Given the description of an element on the screen output the (x, y) to click on. 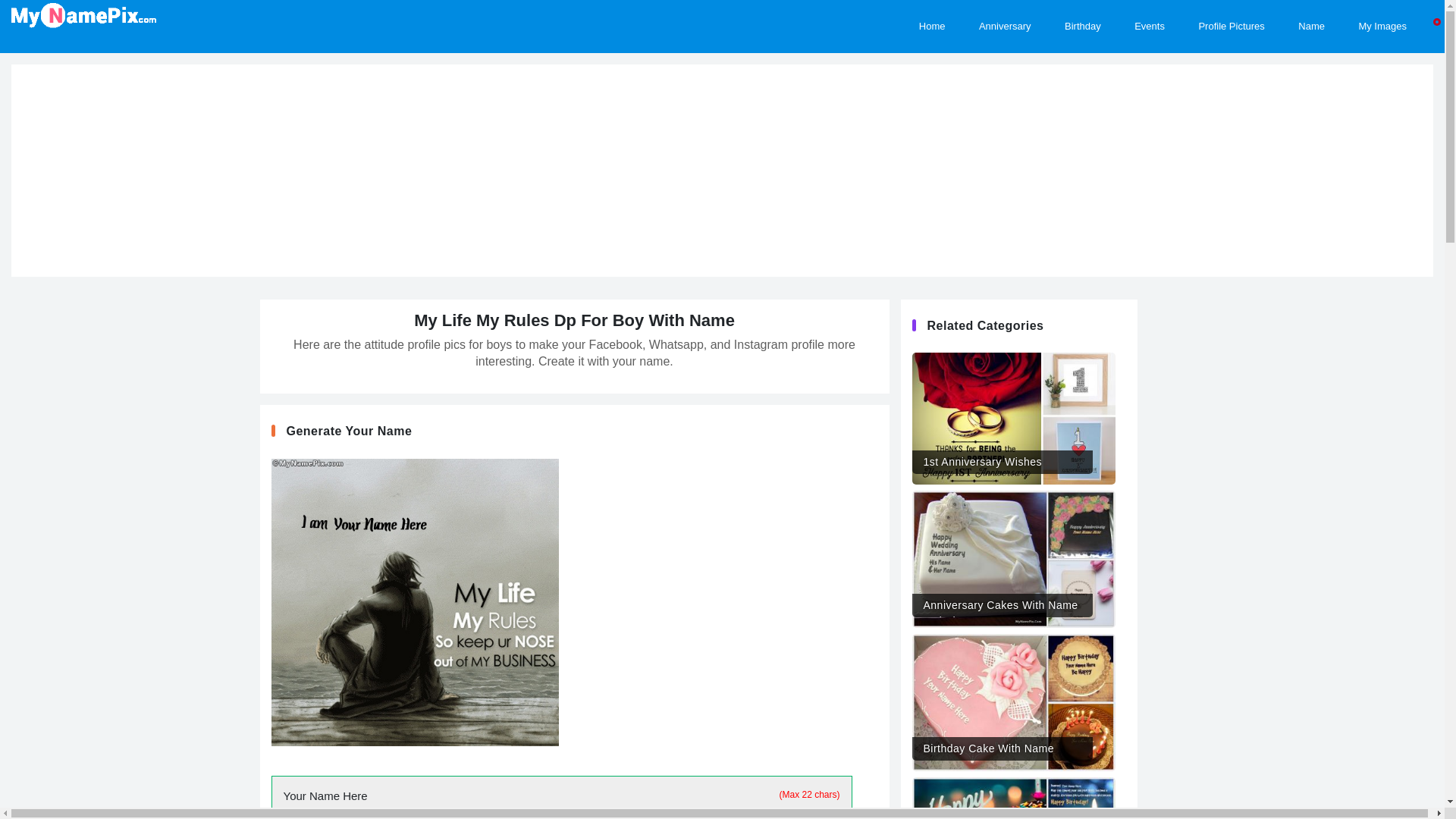
Profile Pictures (1230, 15)
Birthday Wishes With Name and Photo (1013, 798)
1st Anniversary Wishes (1013, 412)
Advertisement (712, 564)
My Images (1382, 15)
Anniversary (1004, 15)
Name (1310, 15)
Home (932, 15)
Anniversary Cakes With Name and Photo (1013, 553)
Events (1149, 15)
Birthday Cake With Name (1013, 696)
Birthday (1082, 15)
